Given the description of an element on the screen output the (x, y) to click on. 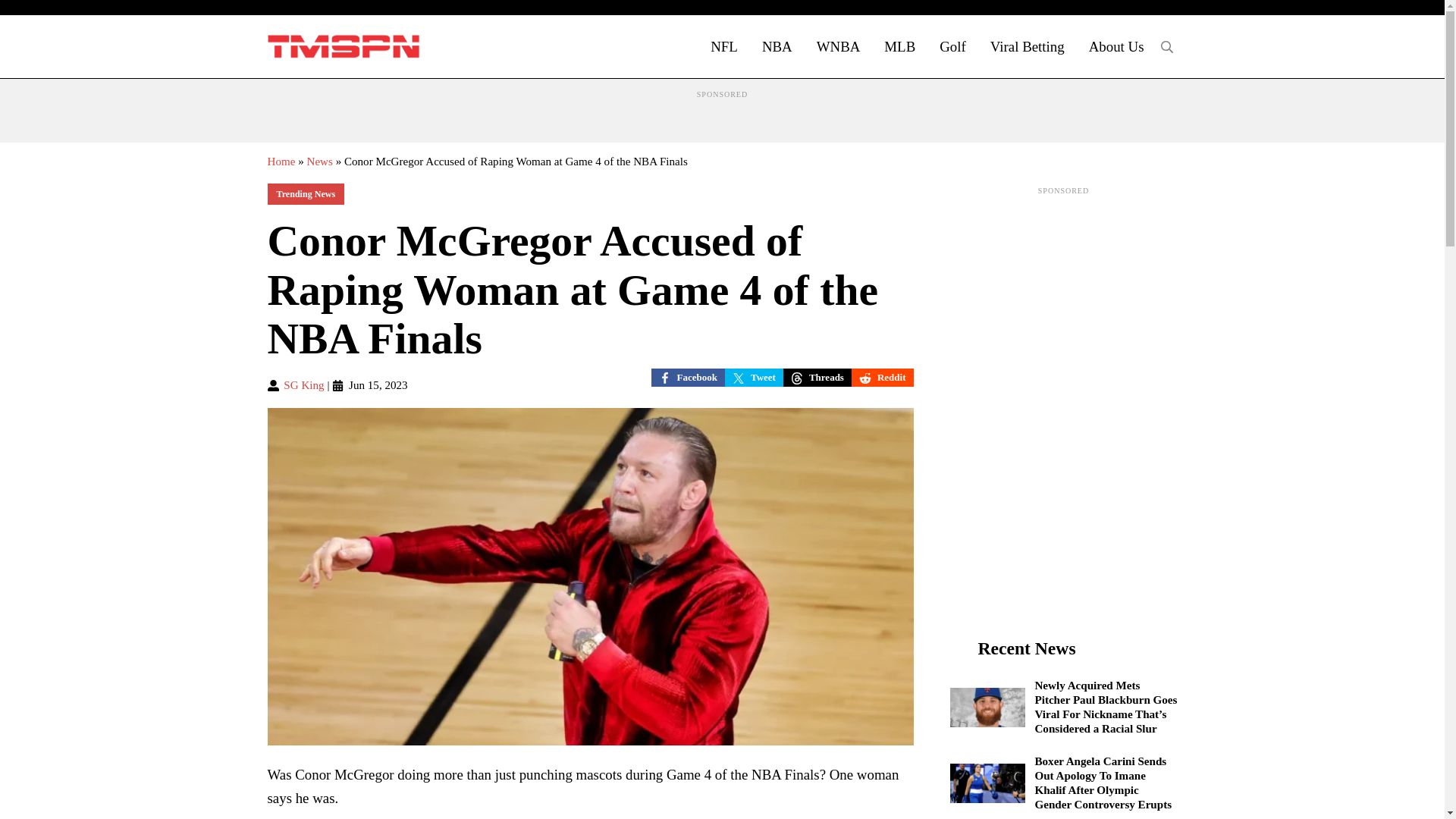
Viral Betting (1027, 46)
Share on Reddit (882, 377)
Share on Twitter (754, 377)
About Us (1116, 46)
News (318, 161)
Golf (952, 46)
NFL (723, 46)
Home (280, 161)
NBA (777, 46)
MLB (899, 46)
